Given the description of an element on the screen output the (x, y) to click on. 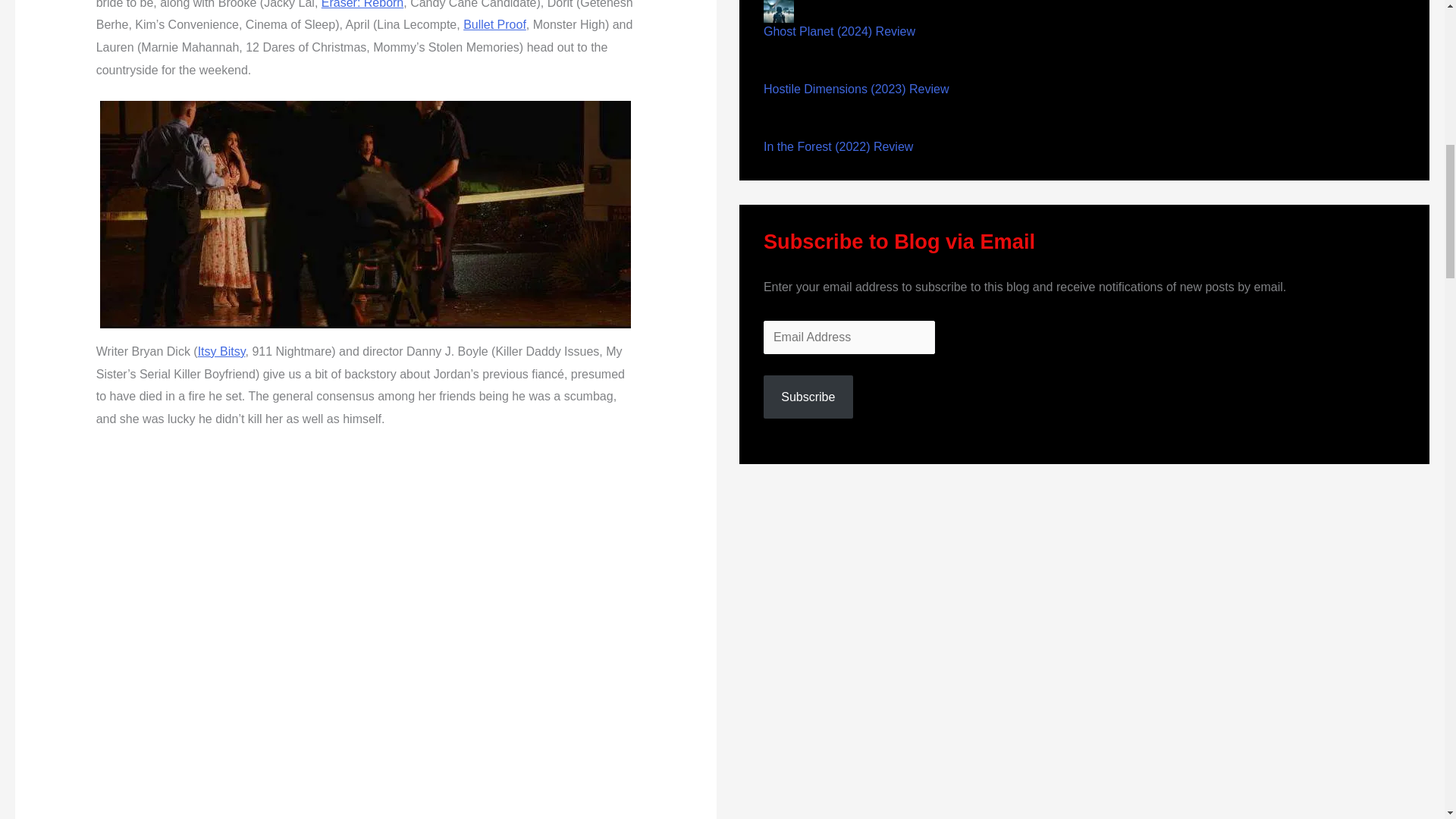
Itsy Bitsy (222, 350)
Eraser: Reborn (362, 4)
Bullet Proof (494, 24)
